Given the description of an element on the screen output the (x, y) to click on. 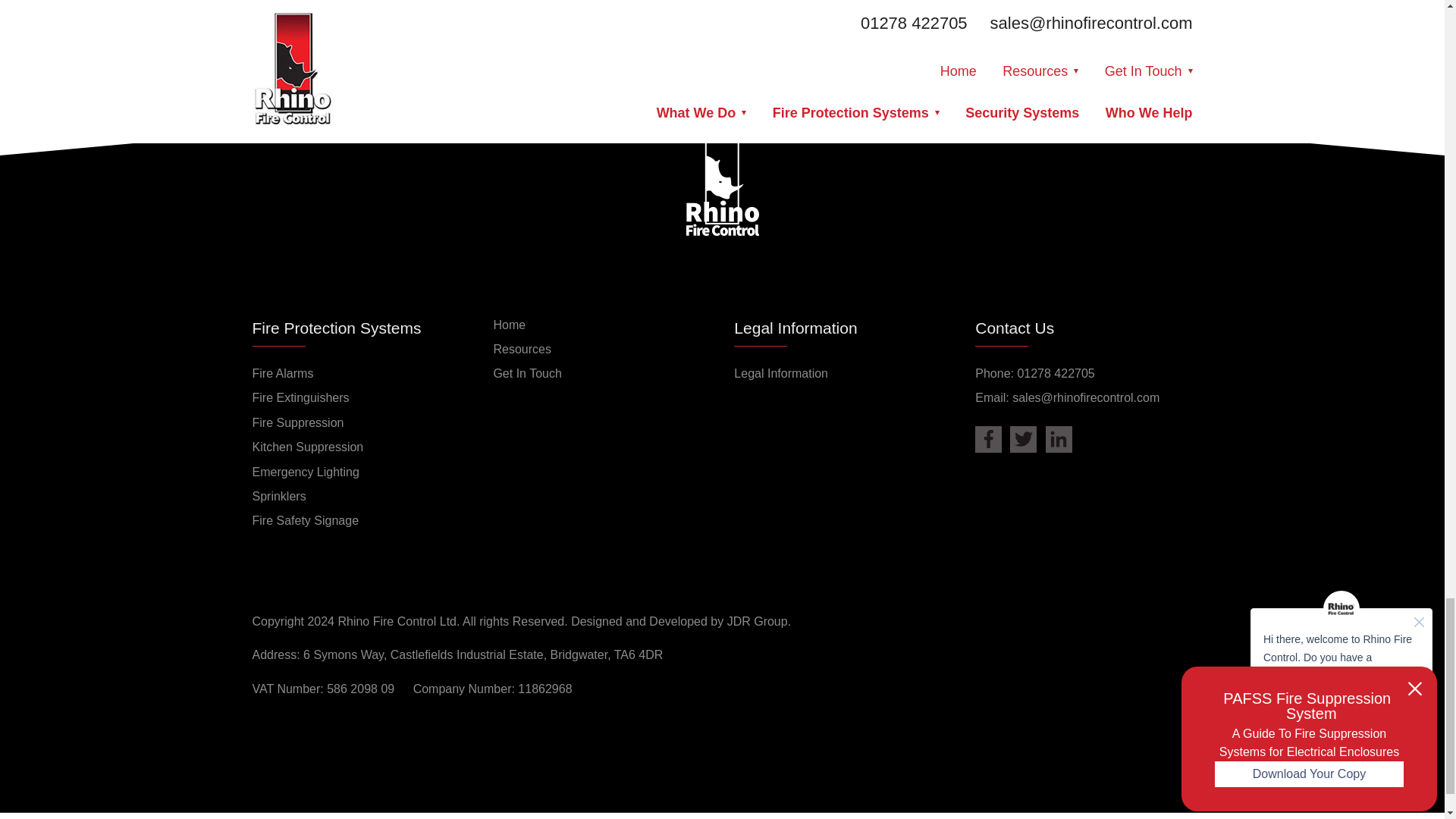
Canva (348, 4)
